Given the description of an element on the screen output the (x, y) to click on. 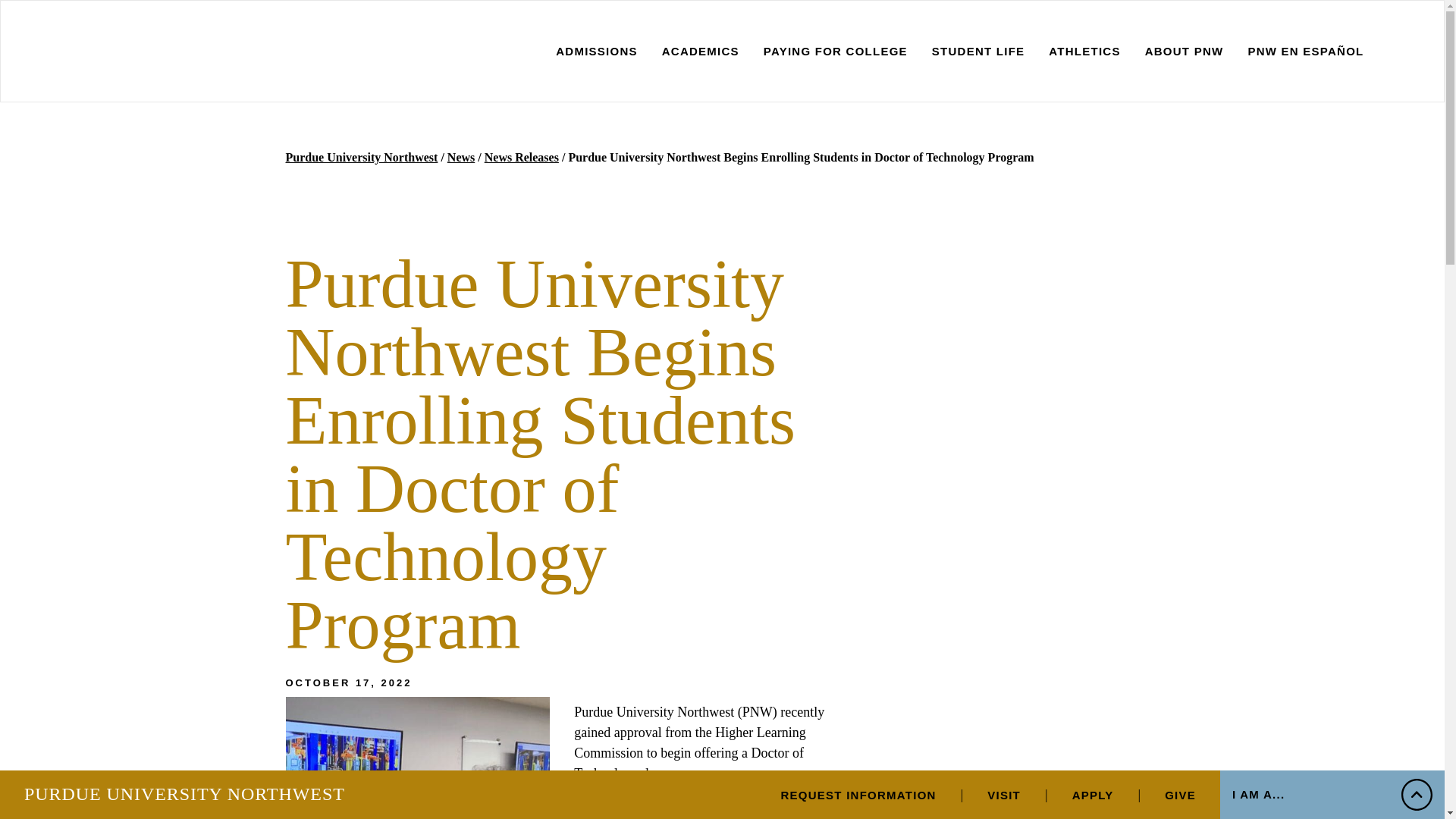
VISIT (1003, 795)
ADMISSIONS (596, 51)
Go to News Releases. (521, 157)
APPLY (1092, 795)
PAYING FOR COLLEGE (834, 51)
Go to Purdue University Northwest. (361, 157)
STUDENT LIFE (978, 51)
Purdue University Northwest (361, 157)
News (460, 157)
ACADEMICS (700, 51)
